Given the description of an element on the screen output the (x, y) to click on. 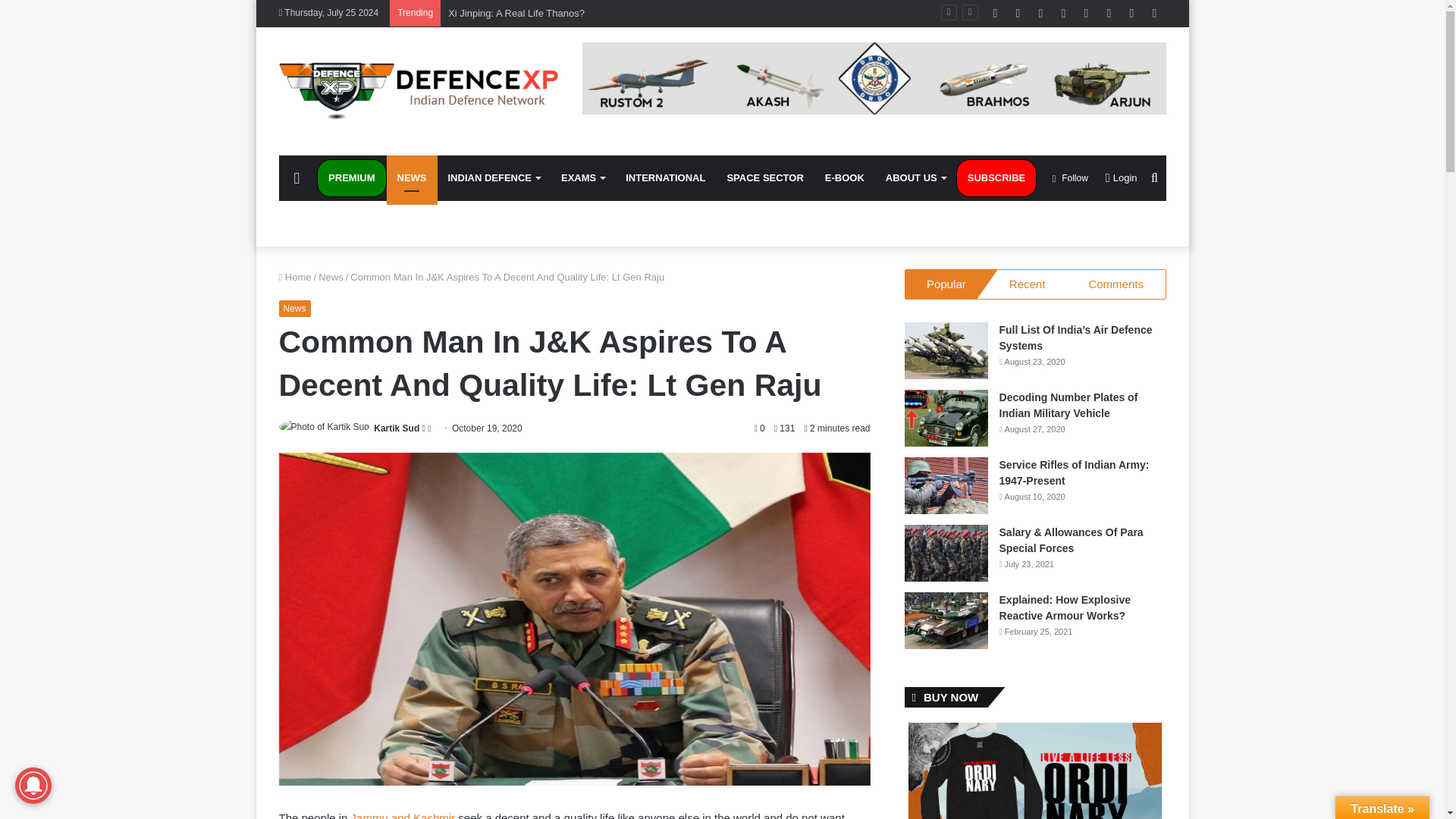
EXAMS (582, 177)
ABOUT US (915, 177)
News (330, 276)
INDIAN DEFENCE (493, 177)
Follow (1070, 177)
Buy now! (844, 177)
INTERNATIONAL (665, 177)
Home (295, 276)
SUBSCRIBE (996, 177)
Xi Jinping: A Real Life Thanos? (516, 12)
DefenceXP - India's Leading Defence Network (419, 91)
PREMIUM (351, 177)
NEWS (412, 177)
Kartik Sud (396, 428)
SPACE SECTOR (764, 177)
